Given the description of an element on the screen output the (x, y) to click on. 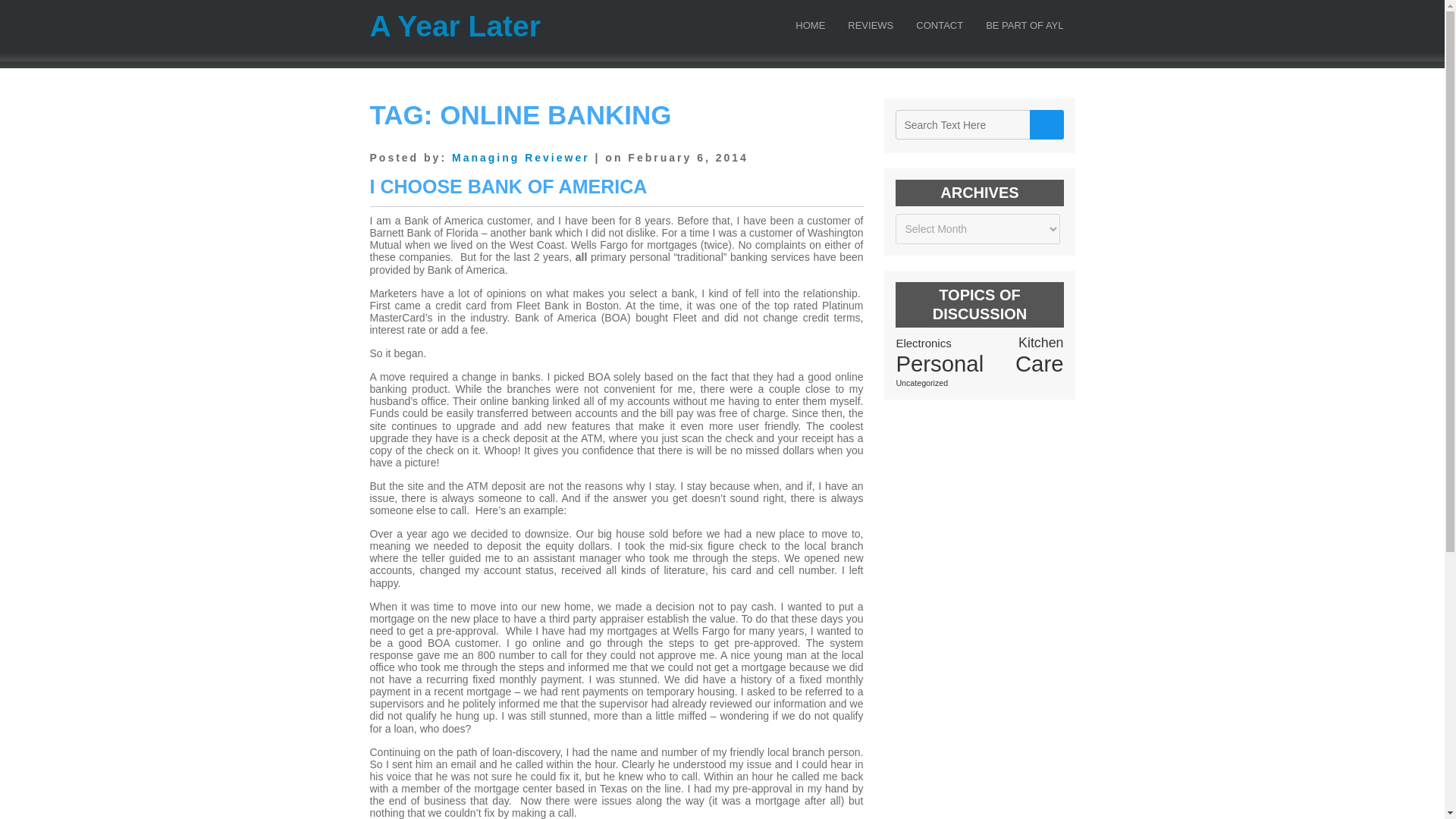
I CHOOSE BANK OF AMERICA (508, 186)
Managing Reviewer (520, 157)
Personal Care (978, 363)
CONTACT (939, 28)
REVIEWS (870, 28)
Kitchen (1039, 342)
Electronics (922, 342)
Search (1046, 124)
Search (1046, 124)
Uncategorized (921, 382)
